Given the description of an element on the screen output the (x, y) to click on. 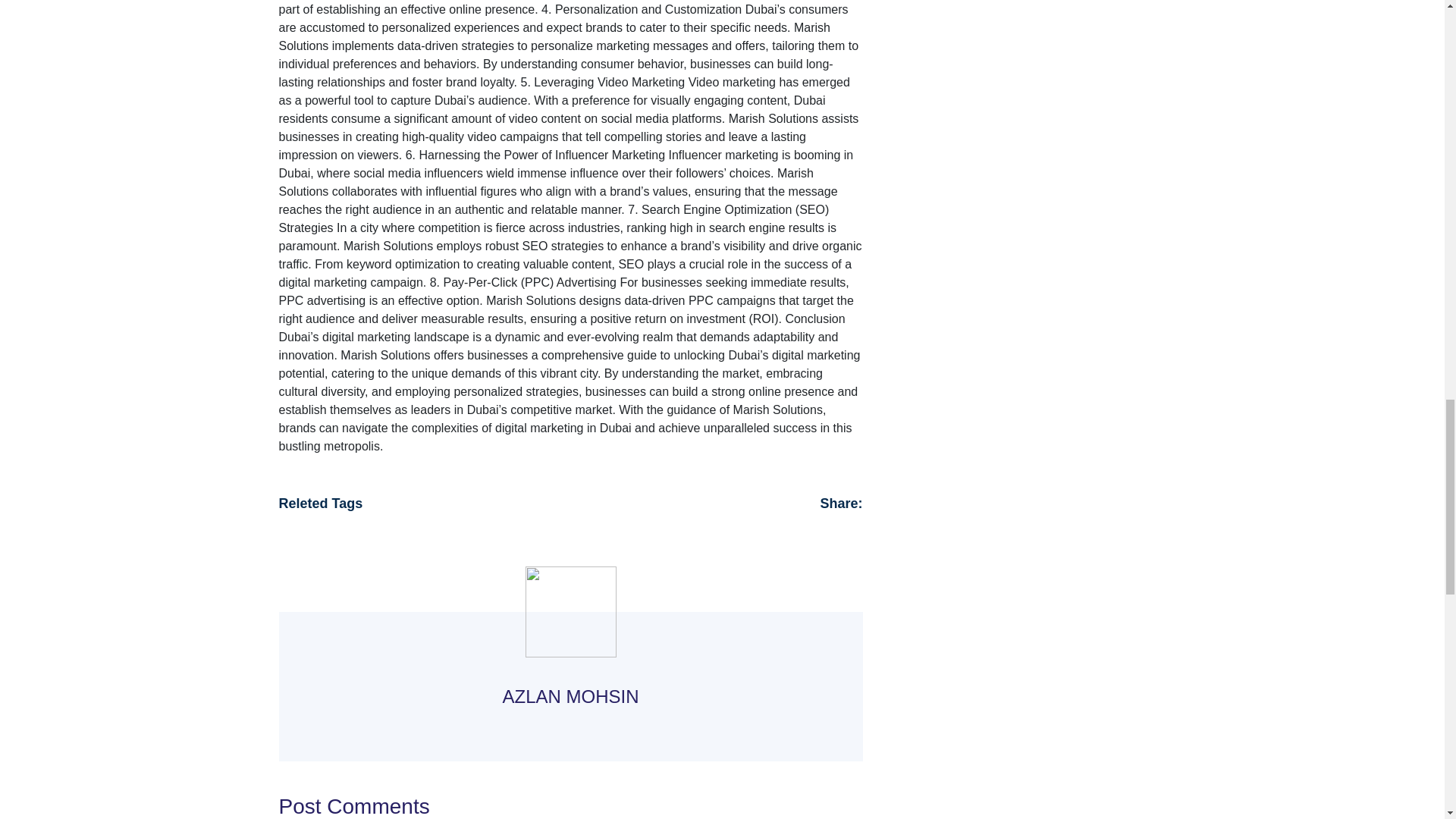
AZLAN MOHSIN (570, 695)
